Given the description of an element on the screen output the (x, y) to click on. 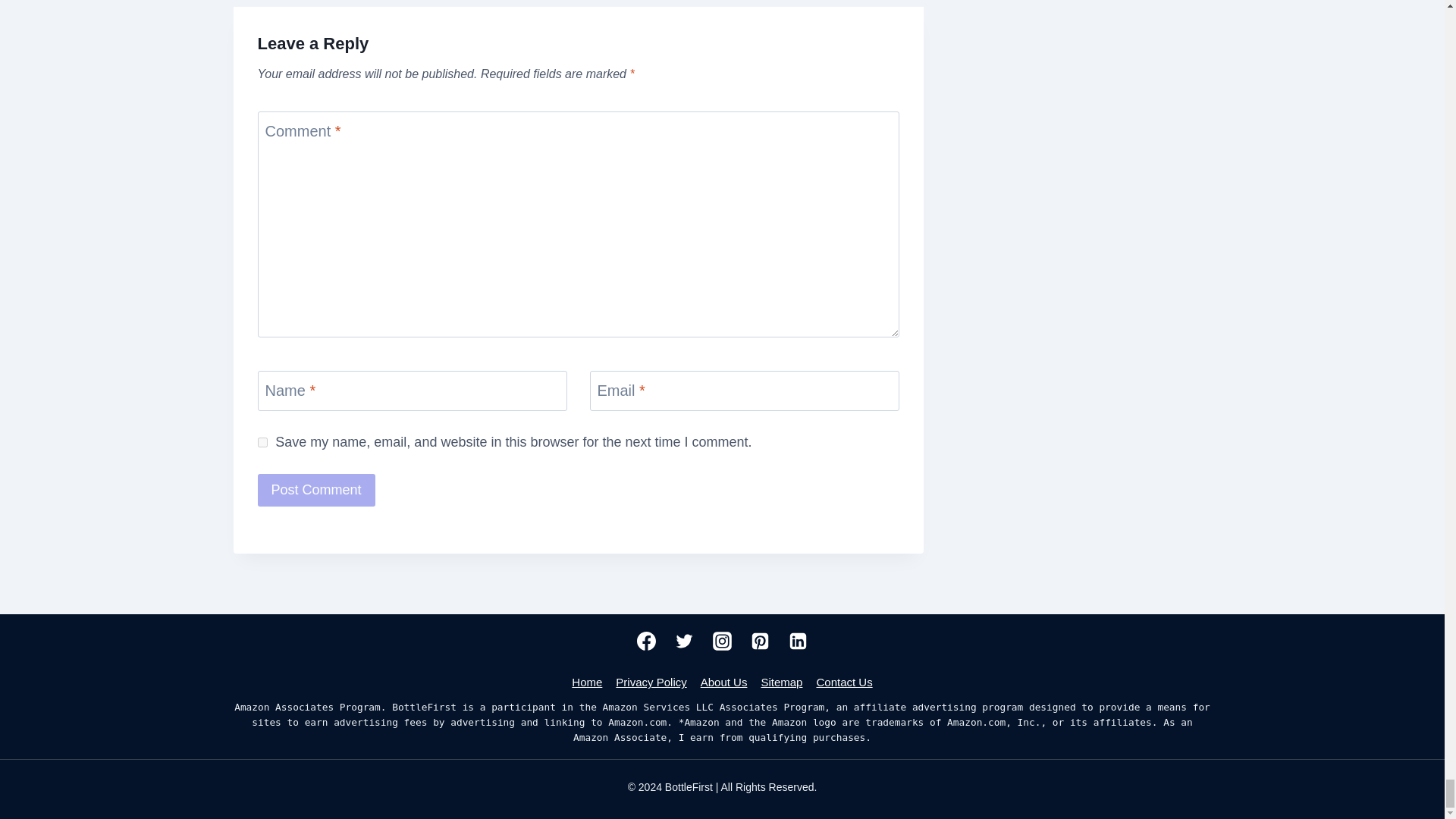
Post Comment (316, 490)
yes (262, 442)
